Given the description of an element on the screen output the (x, y) to click on. 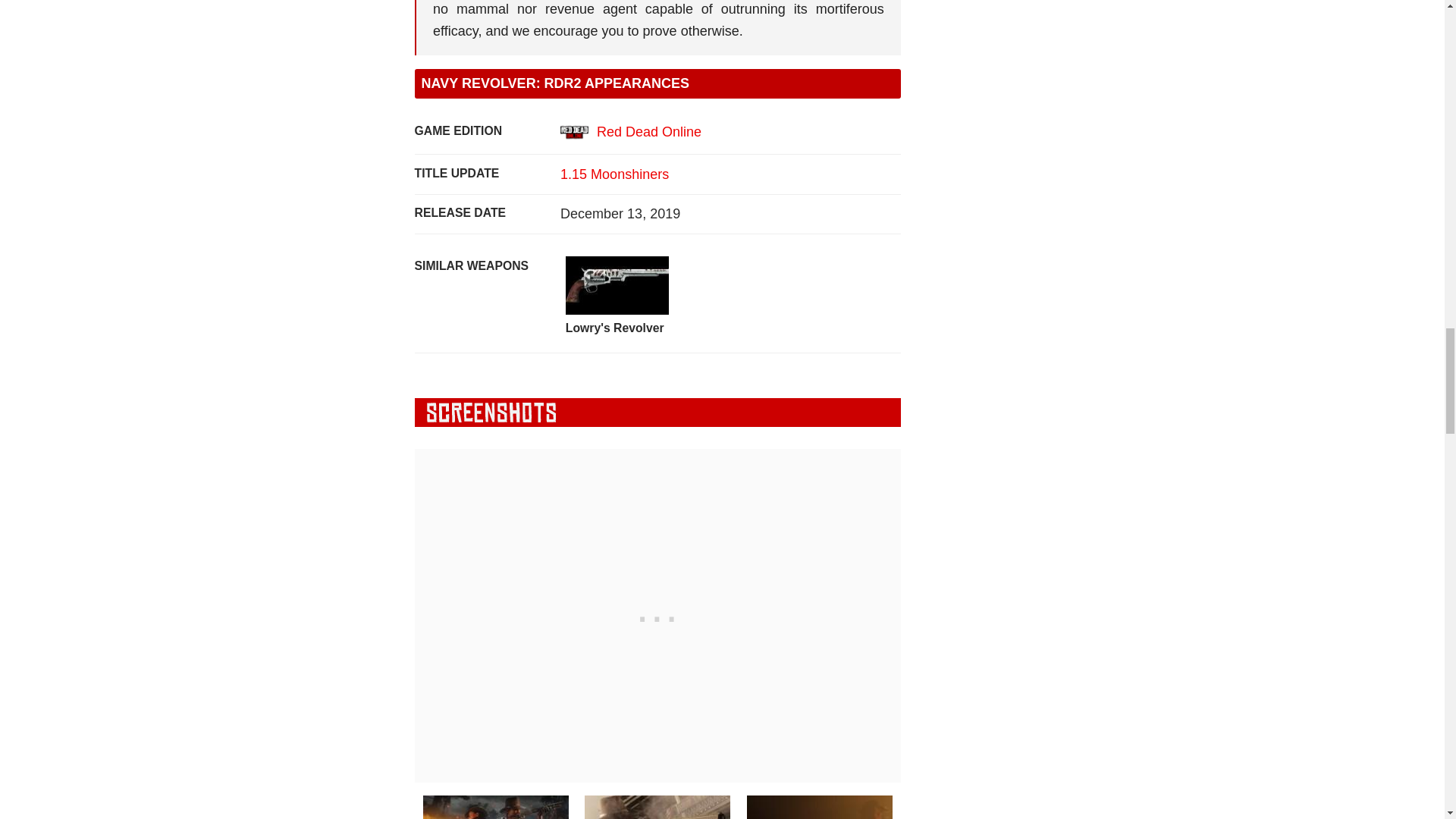
Game Edition: Red Dead Online (574, 132)
0 (819, 806)
Lowry s revolver (617, 285)
0 (495, 806)
0 (657, 806)
Game Edition: Red Dead Online (630, 131)
